Given the description of an element on the screen output the (x, y) to click on. 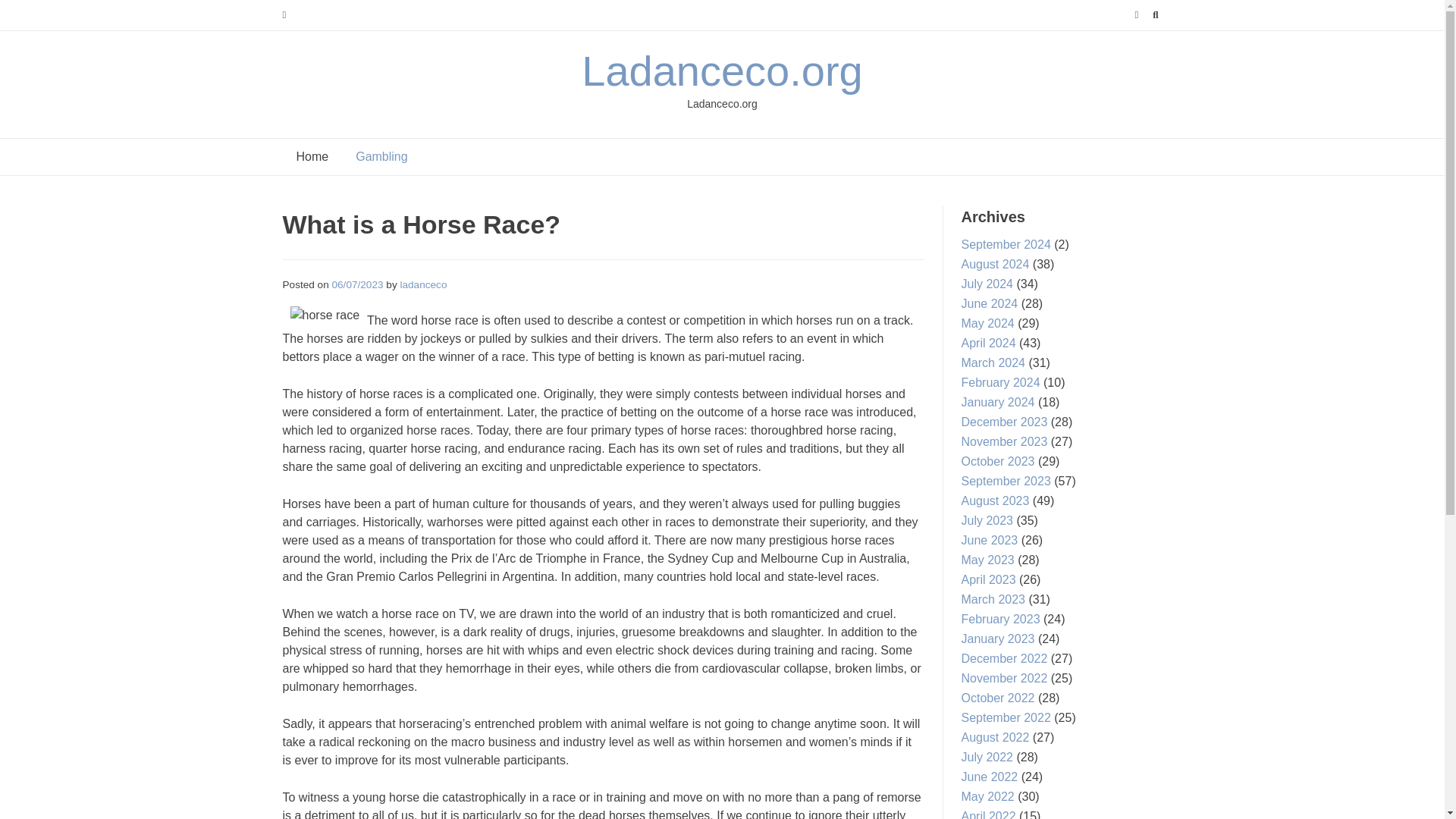
March 2023 (993, 599)
October 2022 (997, 697)
July 2023 (986, 520)
Search (27, 13)
February 2023 (1000, 618)
August 2022 (994, 737)
June 2023 (988, 540)
February 2024 (1000, 382)
September 2023 (1005, 481)
September 2022 (1005, 717)
